Given the description of an element on the screen output the (x, y) to click on. 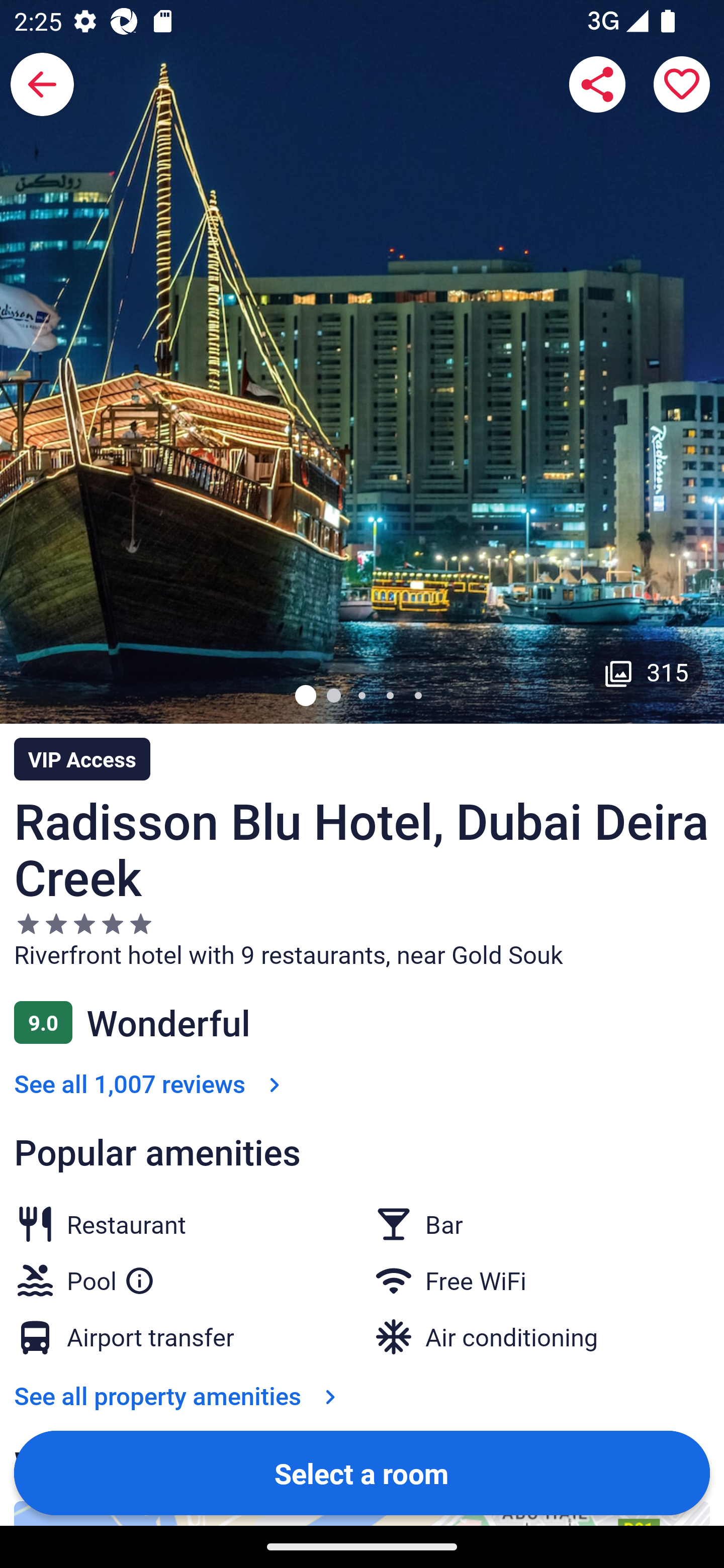
Back (42, 84)
Save property to a trip (681, 84)
Share Radisson Blu Hotel, Dubai Deira Creek (597, 84)
Gallery button with 315 images (646, 671)
See all 1,007 reviews See all 1,007 reviews Link (150, 1083)
Pool (110, 1276)
See all property amenities (178, 1395)
Select a room Button Select a room (361, 1472)
